Given the description of an element on the screen output the (x, y) to click on. 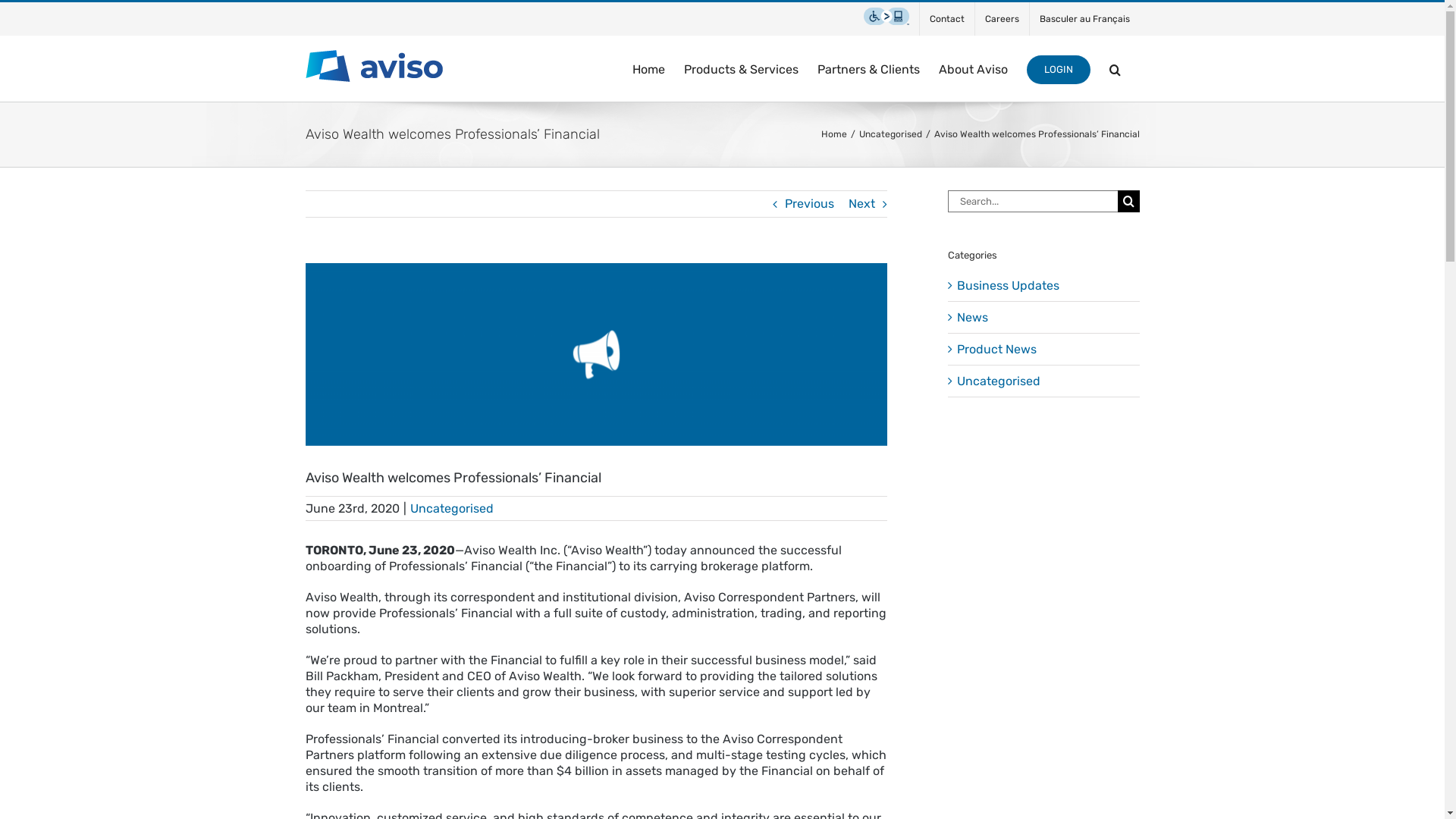
Business Updates Element type: text (1044, 285)
Careers Element type: text (1002, 18)
LOGIN Element type: text (1058, 68)
Products & Services Element type: text (741, 68)
Search Element type: hover (1114, 68)
Uncategorised Element type: text (1044, 381)
About Aviso Element type: text (972, 68)
Partners & Clients Element type: text (868, 68)
Next Element type: text (860, 203)
News Element type: text (1044, 317)
Contact Element type: text (946, 18)
Uncategorised Element type: text (450, 508)
Product News Element type: text (1044, 349)
View Larger Image Element type: text (595, 354)
Home Element type: text (648, 68)
Previous Element type: text (808, 203)
Home Element type: text (833, 133)
Uncategorised Element type: text (889, 133)
